Given the description of an element on the screen output the (x, y) to click on. 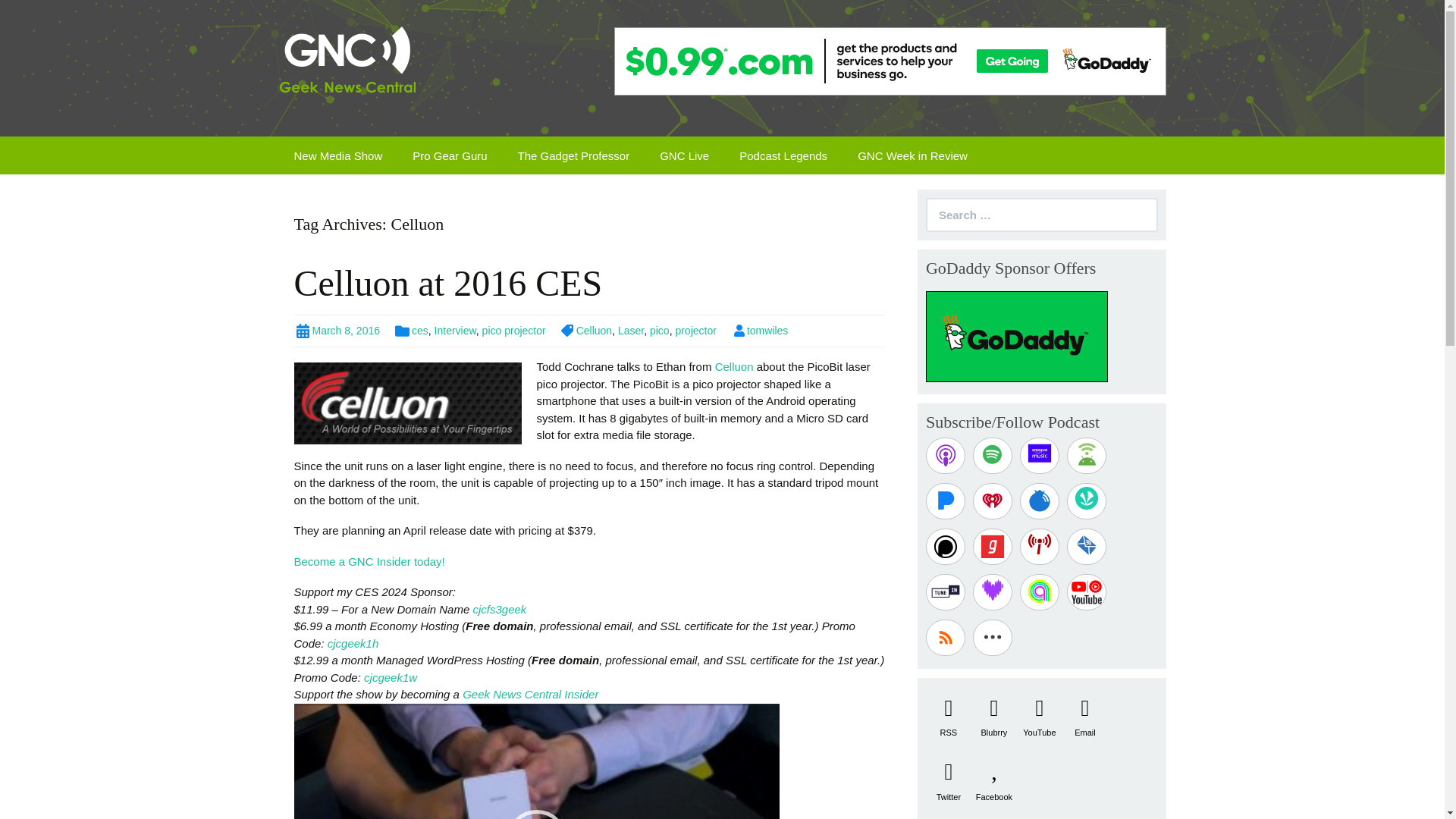
Geek News Central (346, 62)
tomwiles (759, 330)
Celluon (585, 330)
Become a GNC Insider today! (369, 561)
GNC Week in Review (912, 155)
View all posts by tomwiles (759, 330)
Permalink to Celluon at 2016 CES (337, 330)
Celluon (735, 366)
Subscribe on Spotify (991, 455)
pico projector (513, 330)
cjcgeek1h (352, 643)
Celluon at 2016 CES (448, 282)
Subscribe on Apple Podcasts (945, 455)
The Gadget Professor (573, 155)
